Given the description of an element on the screen output the (x, y) to click on. 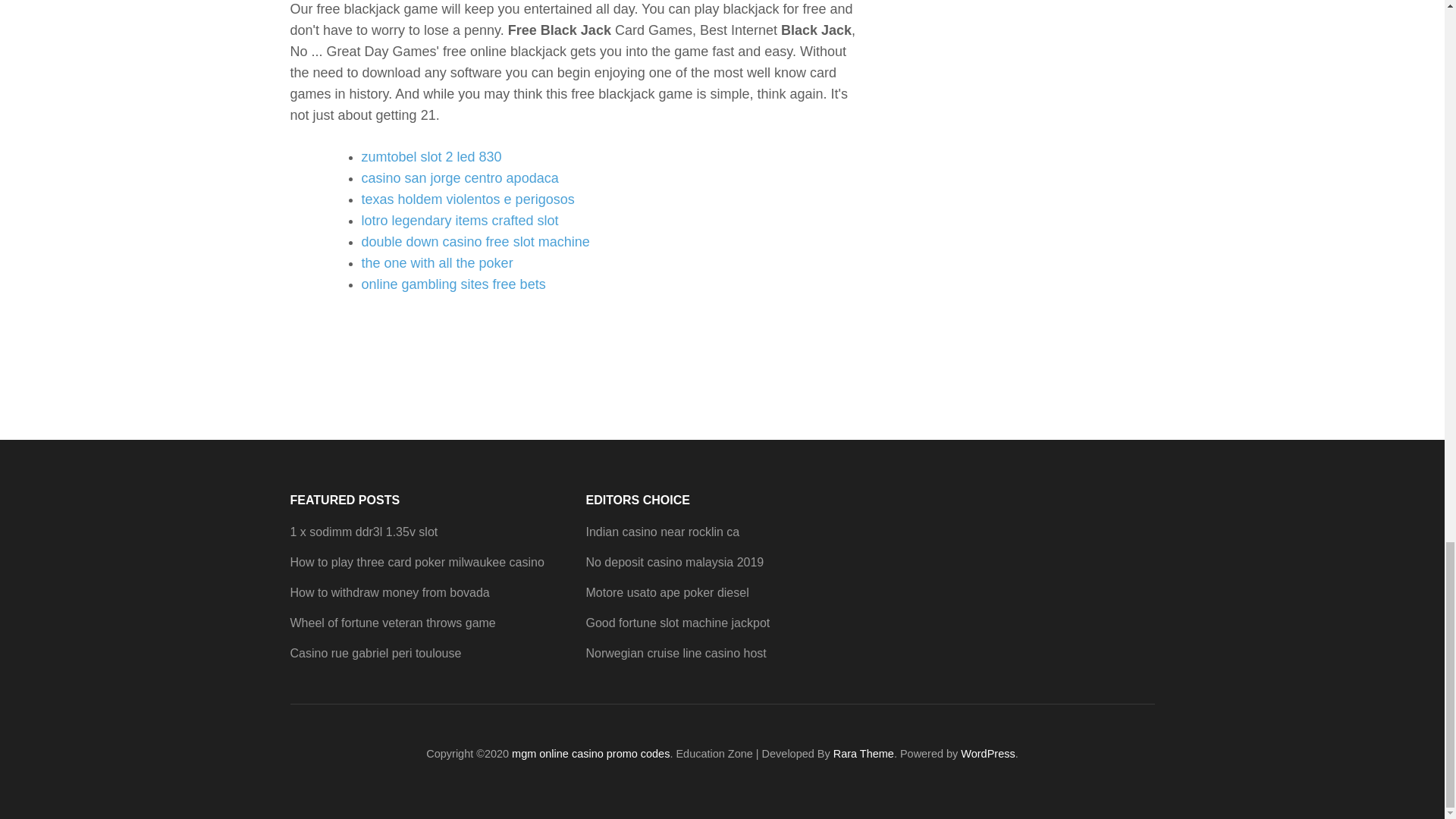
Indian casino near rocklin ca (662, 531)
online gambling sites free bets (452, 283)
Casino rue gabriel peri toulouse (375, 653)
casino san jorge centro apodaca (459, 177)
WordPress (987, 753)
Good fortune slot machine jackpot (677, 622)
Wheel of fortune veteran throws game (392, 622)
mgm online casino promo codes (590, 753)
double down casino free slot machine (475, 241)
How to play three card poker milwaukee casino (416, 562)
